Given the description of an element on the screen output the (x, y) to click on. 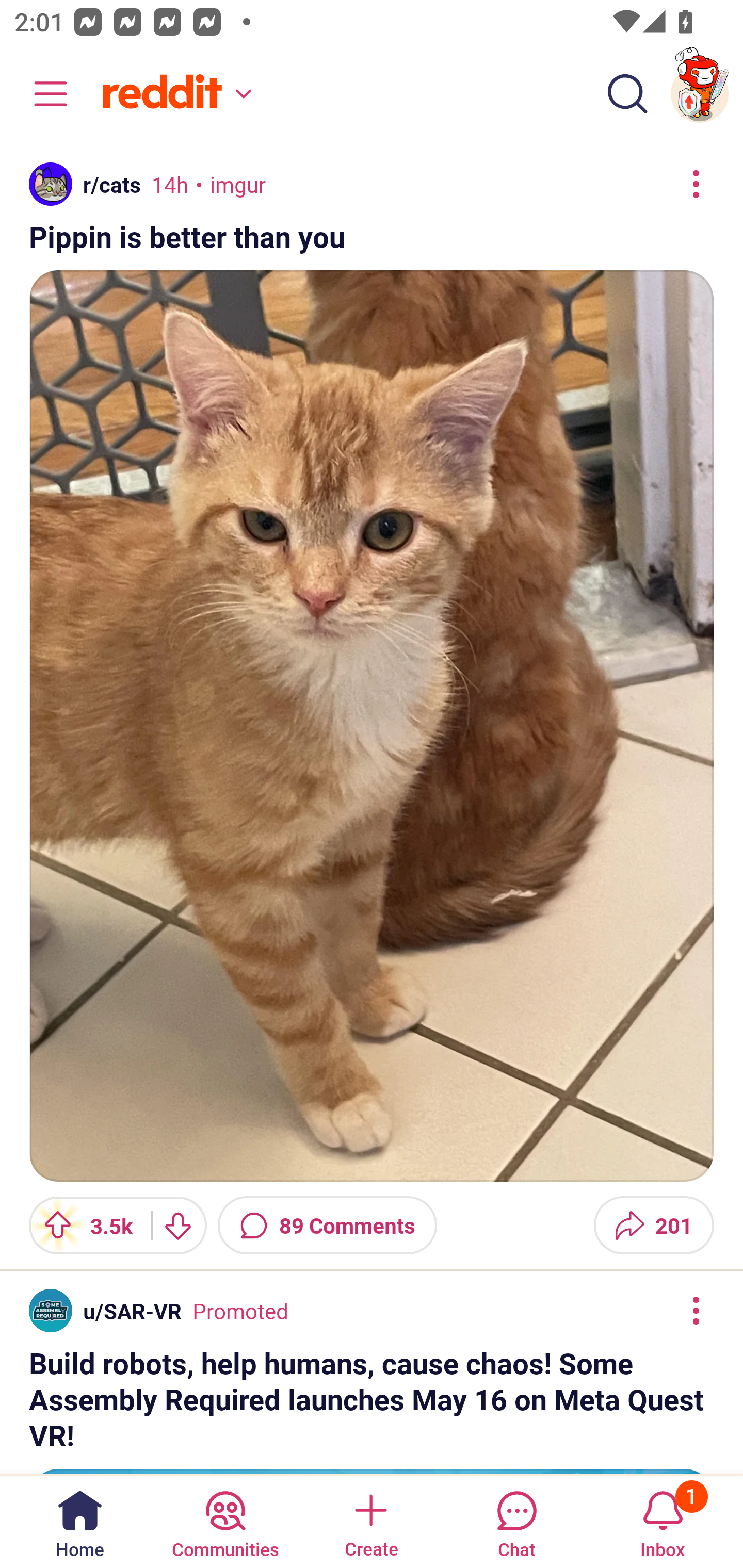
Search (626, 93)
TestAppium002 account (699, 93)
Community menu (41, 94)
Home feed (173, 94)
Home (80, 1520)
Communities (225, 1520)
Create a post Create (370, 1520)
Chat (516, 1520)
Inbox, has 1 notification 1 Inbox (662, 1520)
